Given the description of an element on the screen output the (x, y) to click on. 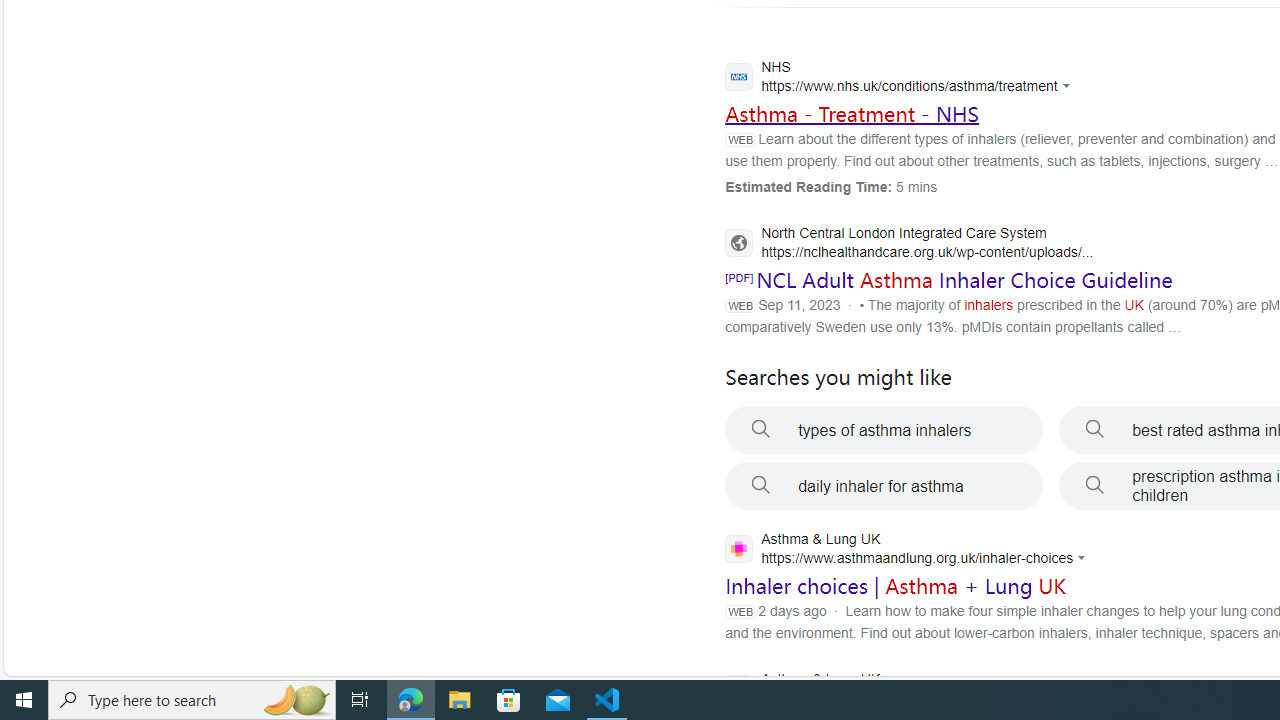
NHS (902, 79)
Inhaler choices | Asthma + Lung UK (895, 586)
types of asthma inhalers (884, 430)
Asthma & Lung UK (902, 691)
Actions for this site (1084, 557)
daily inhaler for asthma (884, 485)
NCL Adult Asthma Inhaler Choice Guideline (964, 280)
types of asthma inhalers (884, 430)
daily inhaler for asthma (884, 485)
Estimated Reading Time: 5 mins (831, 186)
Asthma - Treatment - NHS (851, 113)
North Central London Integrated Care System (909, 244)
